Given the description of an element on the screen output the (x, y) to click on. 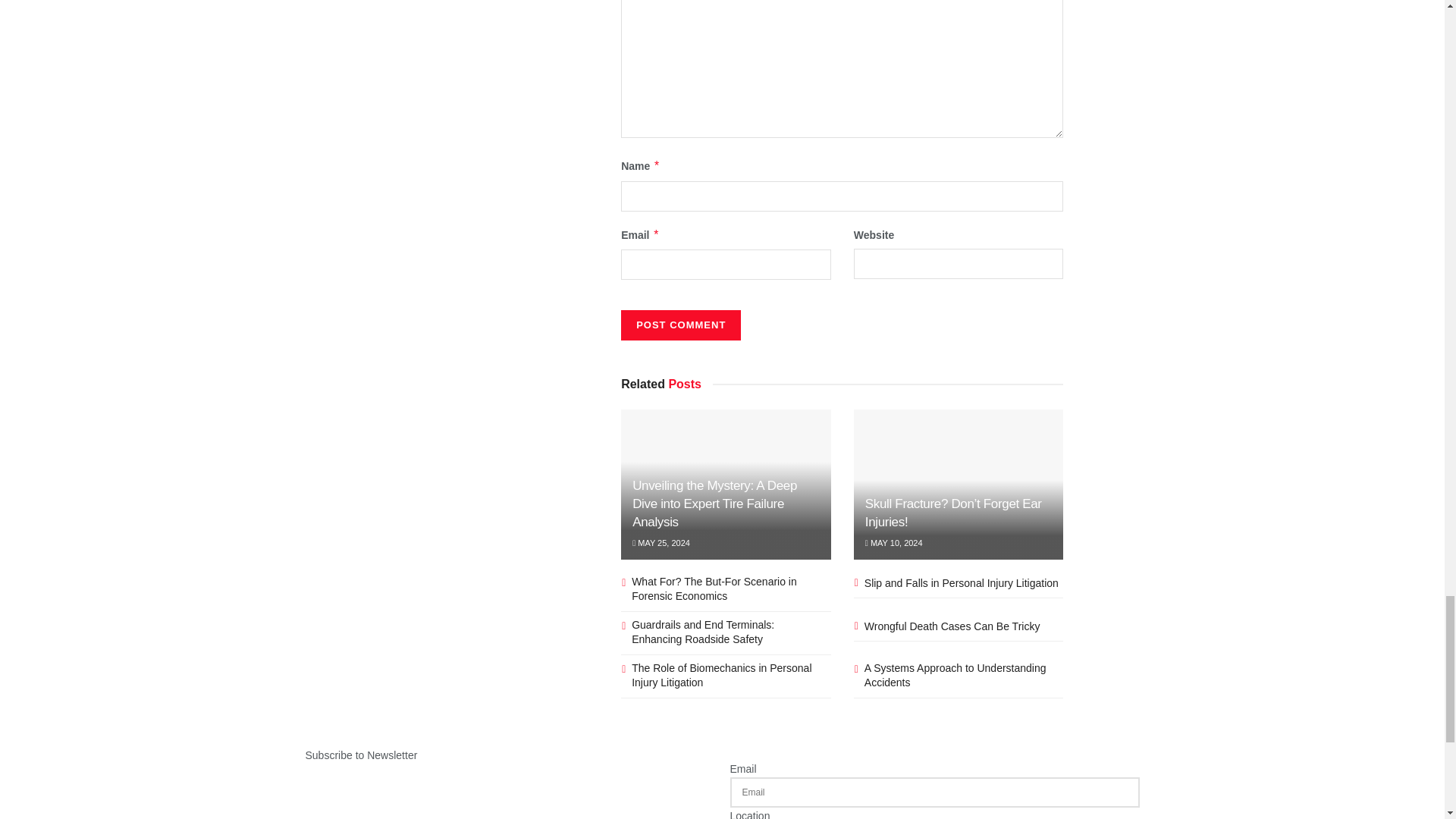
Post Comment (681, 325)
